Given the description of an element on the screen output the (x, y) to click on. 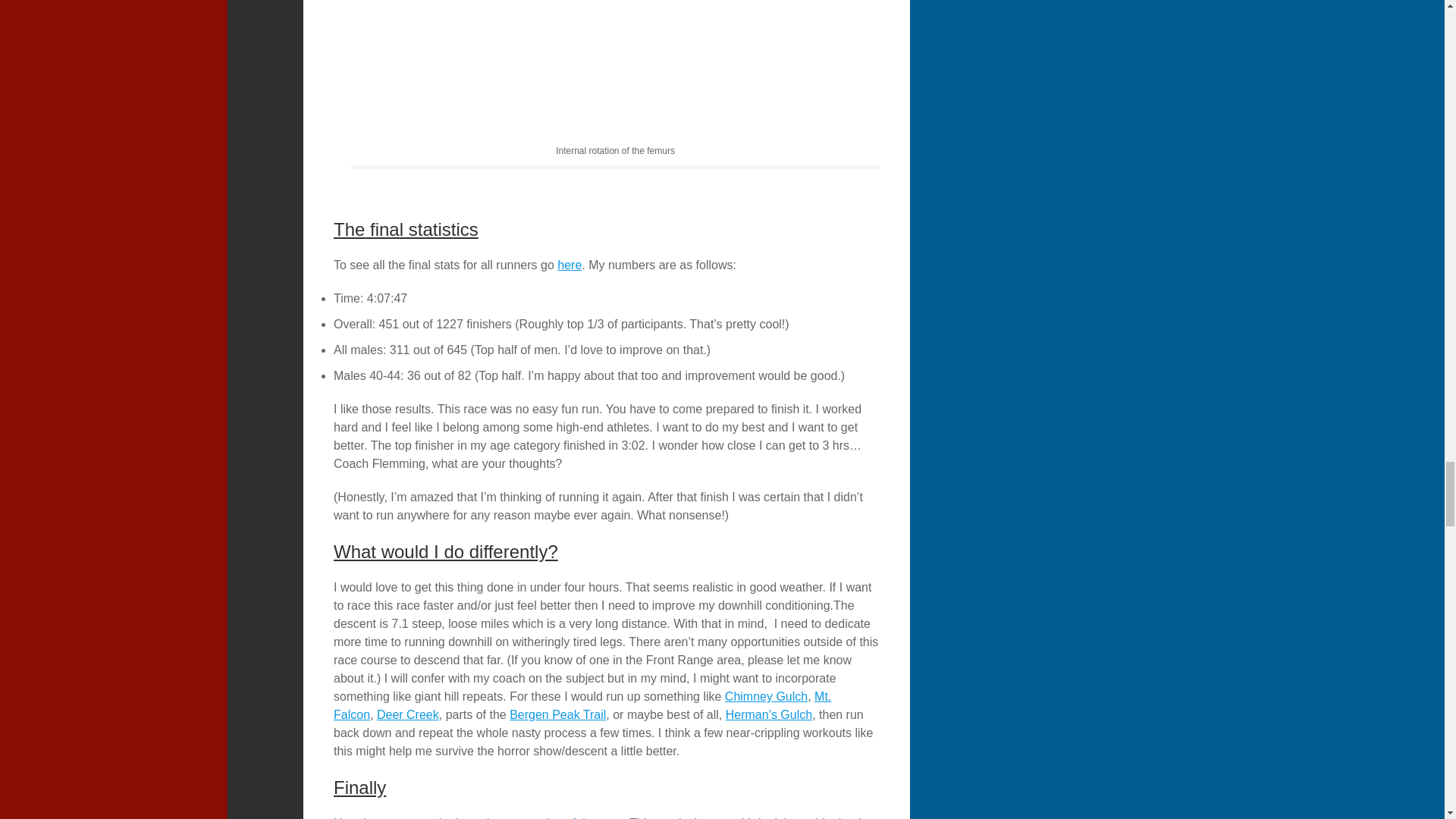
here (568, 264)
